Given the description of an element on the screen output the (x, y) to click on. 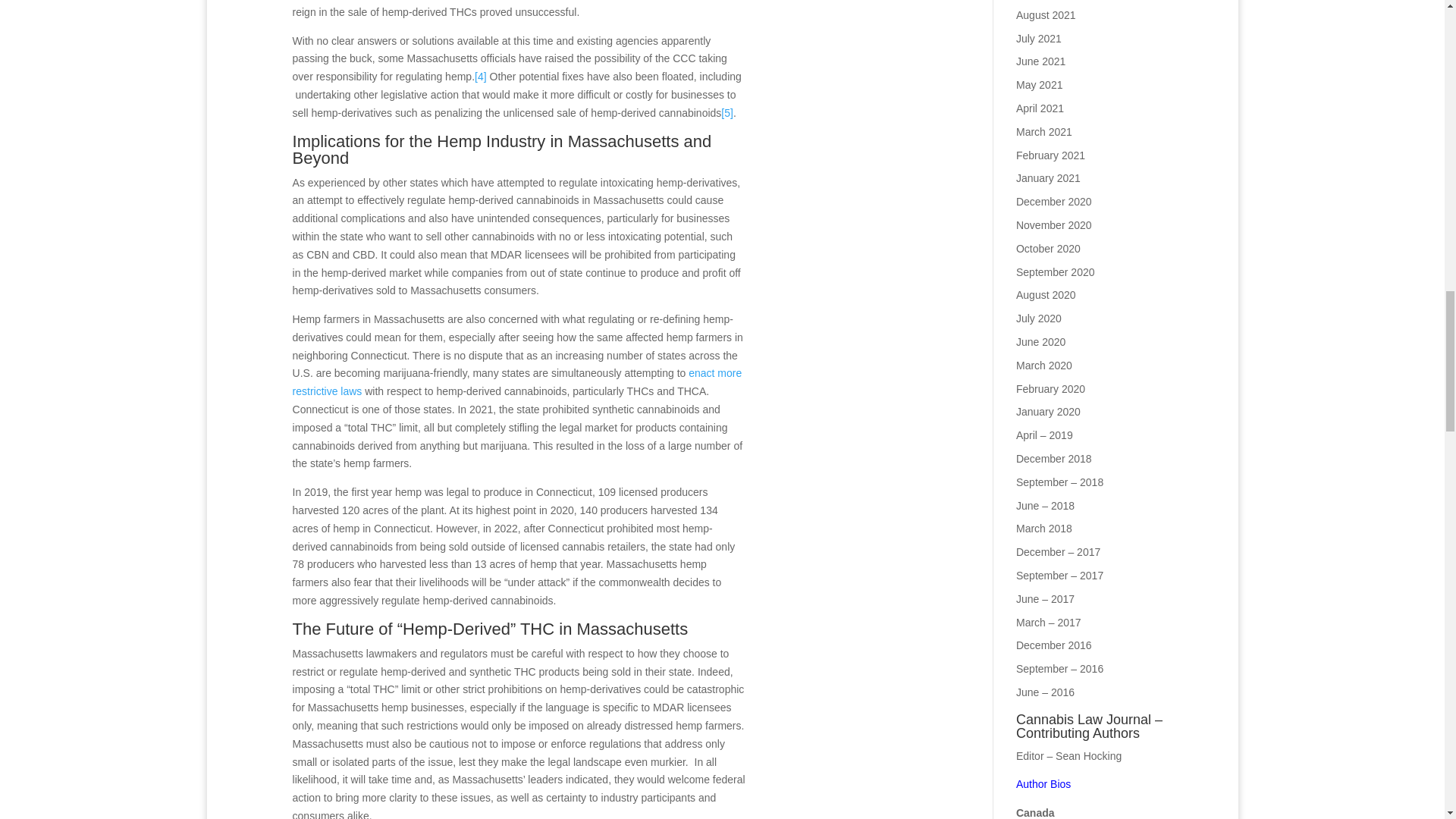
enact more restrictive laws (517, 381)
